Given the description of an element on the screen output the (x, y) to click on. 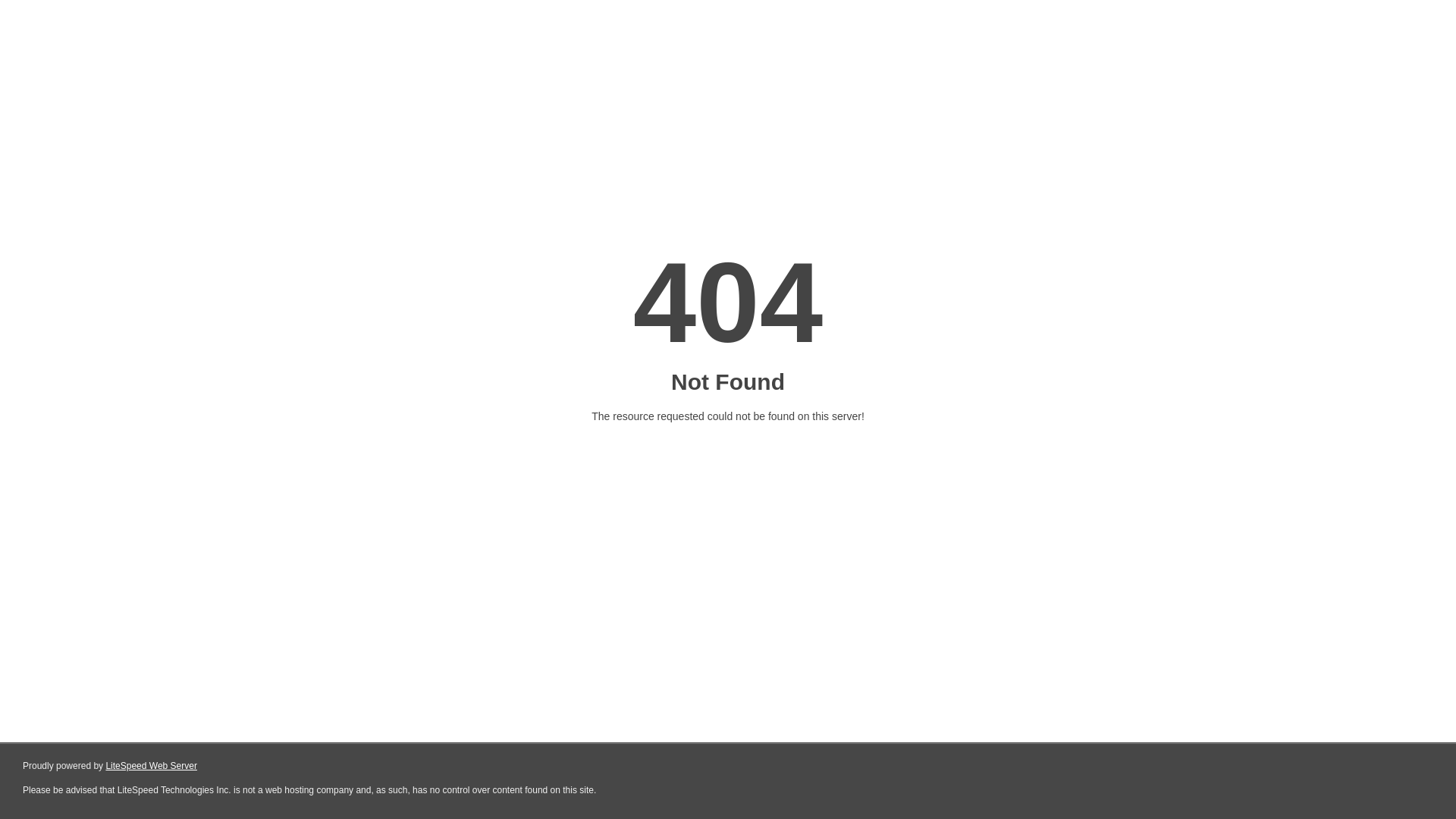
LiteSpeed Web Server Element type: text (151, 765)
